Given the description of an element on the screen output the (x, y) to click on. 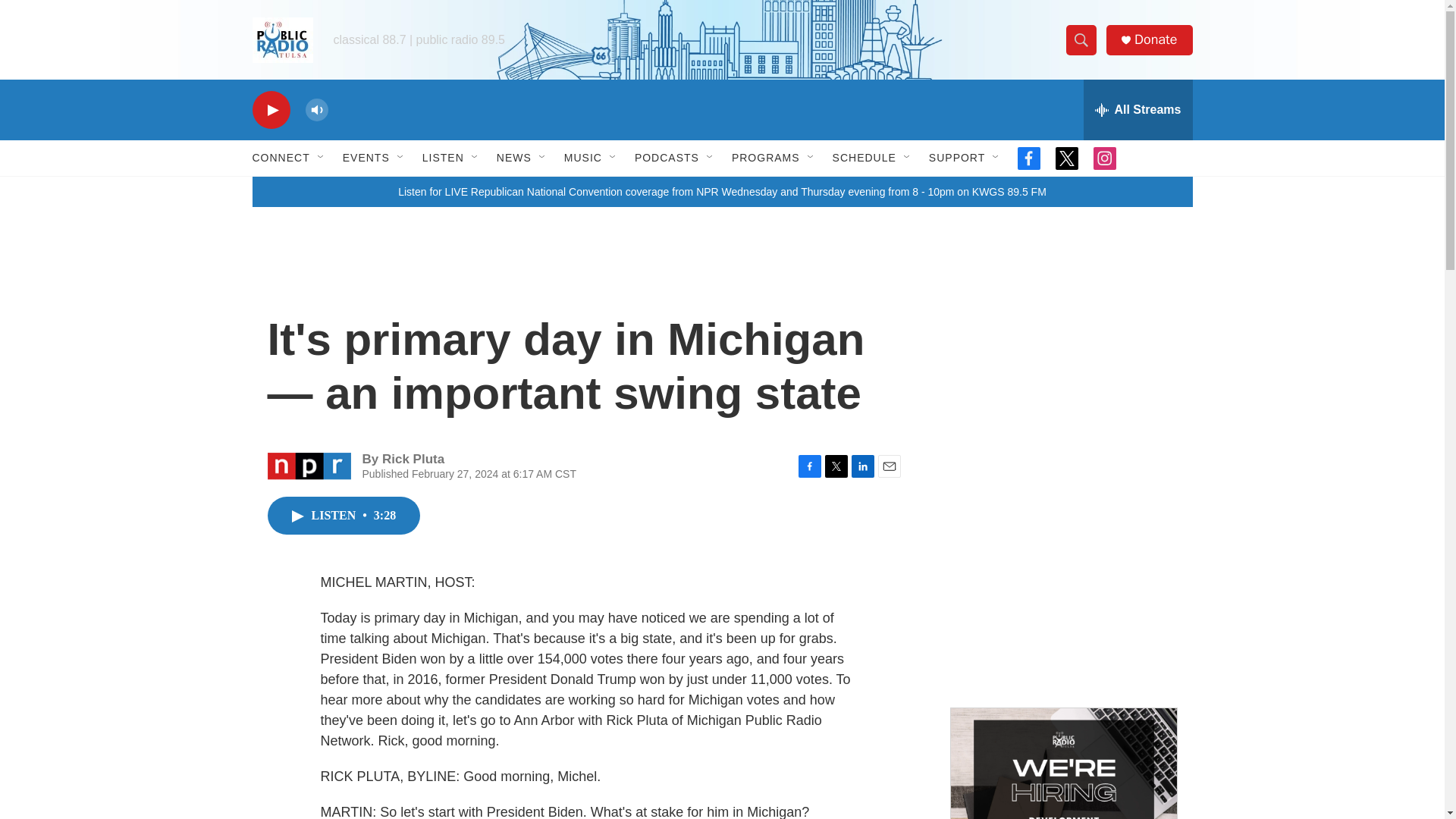
3rd party ad content (1062, 362)
3rd party ad content (1062, 582)
